Given the description of an element on the screen output the (x, y) to click on. 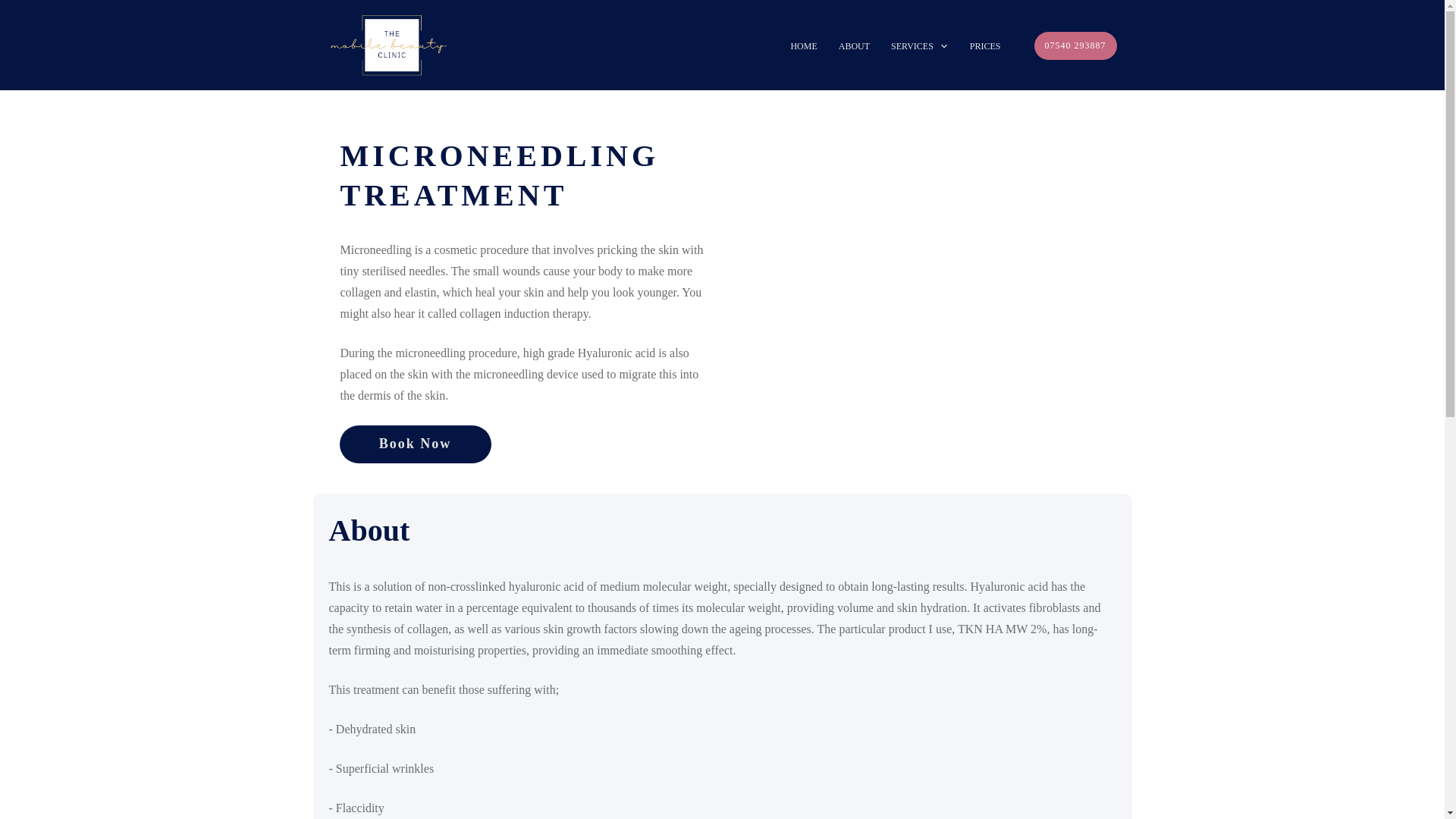
SERVICES (920, 45)
PRICES (985, 45)
HOME (803, 45)
ABOUT (853, 45)
07540 293887 (1075, 45)
Book Now (415, 444)
